Given the description of an element on the screen output the (x, y) to click on. 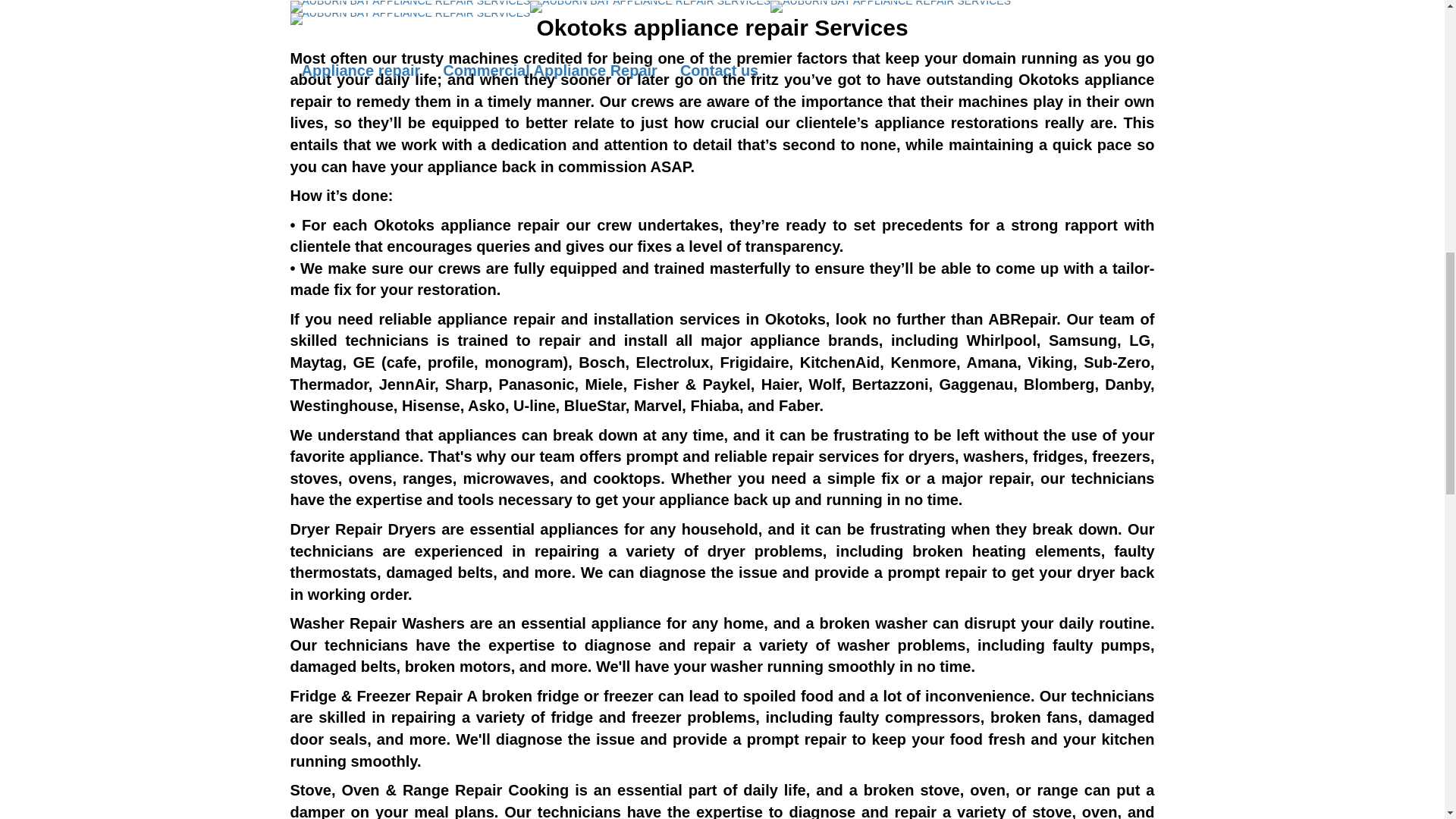
Okotoks appliance repair Services (721, 27)
Okotoks appliance repai (721, 90)
Okotoks appliance repair (466, 225)
